Given the description of an element on the screen output the (x, y) to click on. 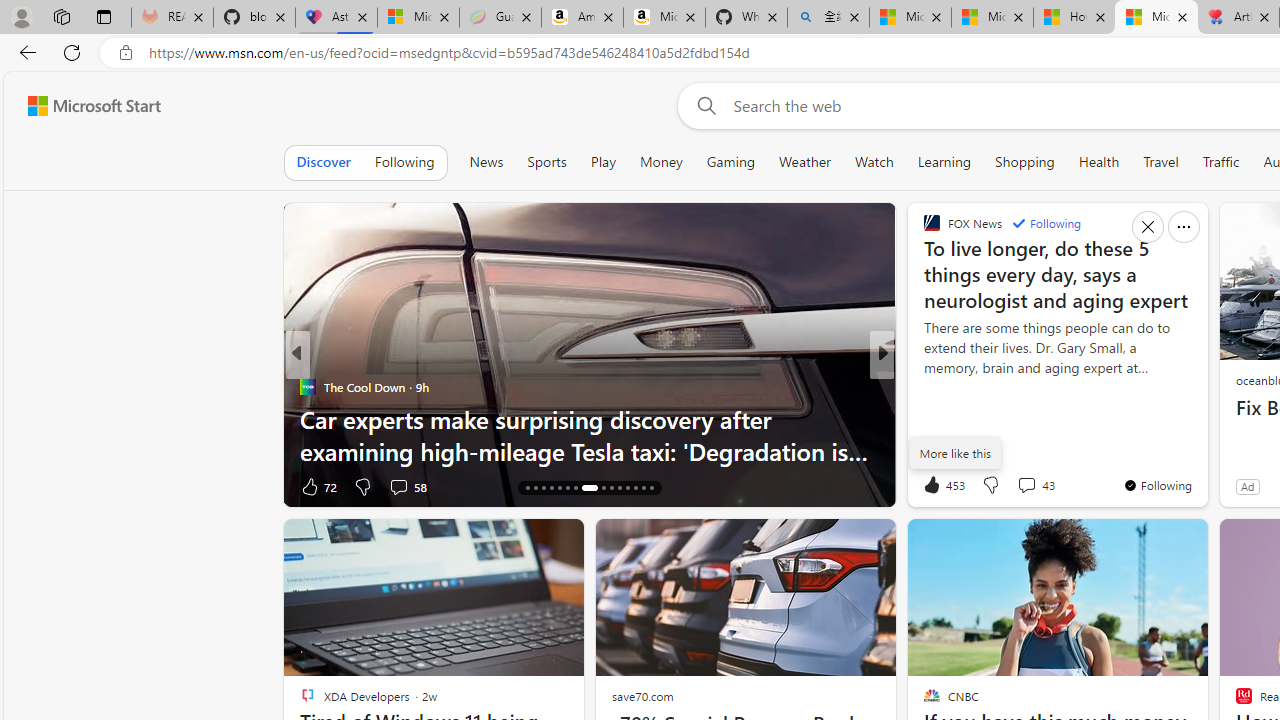
AutomationID: tab-23 (582, 487)
View comments 43 Comment (1026, 485)
Moneywise (923, 386)
View comments 43 Comment (1035, 484)
AutomationID: tab-27 (627, 487)
